Given the description of an element on the screen output the (x, y) to click on. 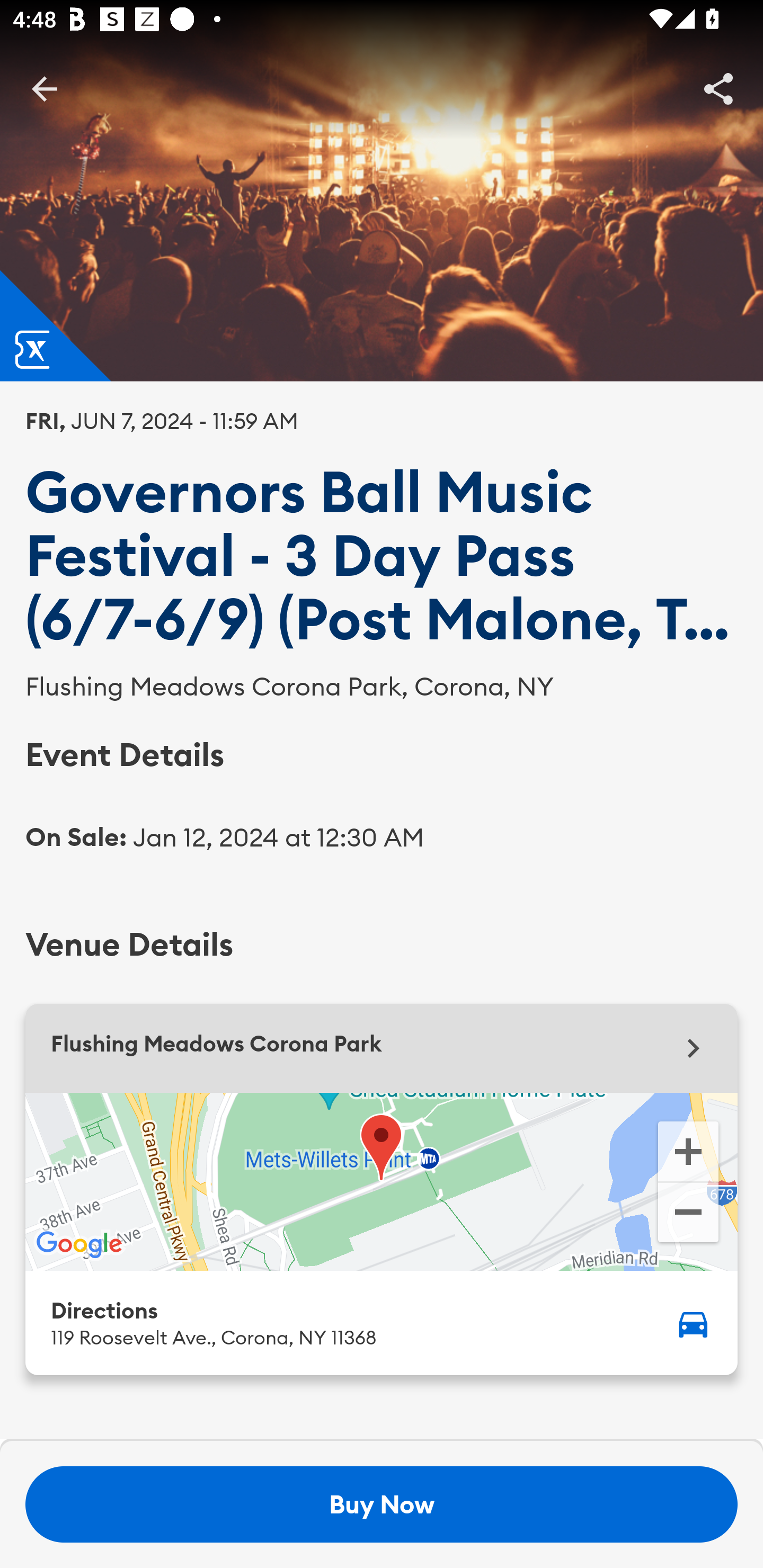
BackButton (44, 88)
Share (718, 88)
Flushing Meadows Corona Park (381, 1047)
Zoom in (687, 1149)
Zoom out (687, 1214)
Directions 119 Roosevelt Ave., Corona, NY 11368 (381, 1322)
Buy Now (381, 1504)
